Given the description of an element on the screen output the (x, y) to click on. 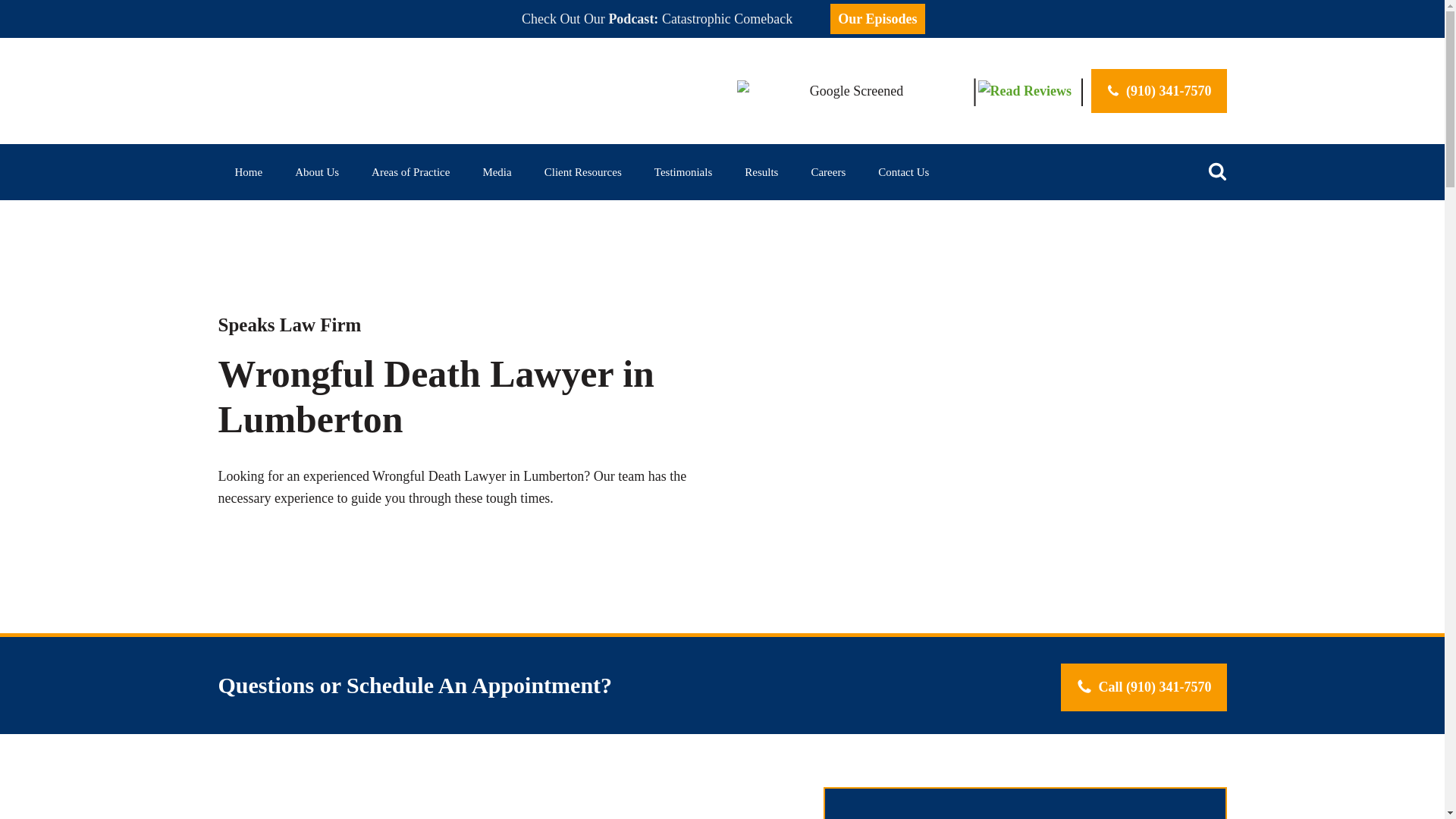
Our Episodes (877, 18)
Areas of Practice (409, 171)
About Us (316, 171)
